Given the description of an element on the screen output the (x, y) to click on. 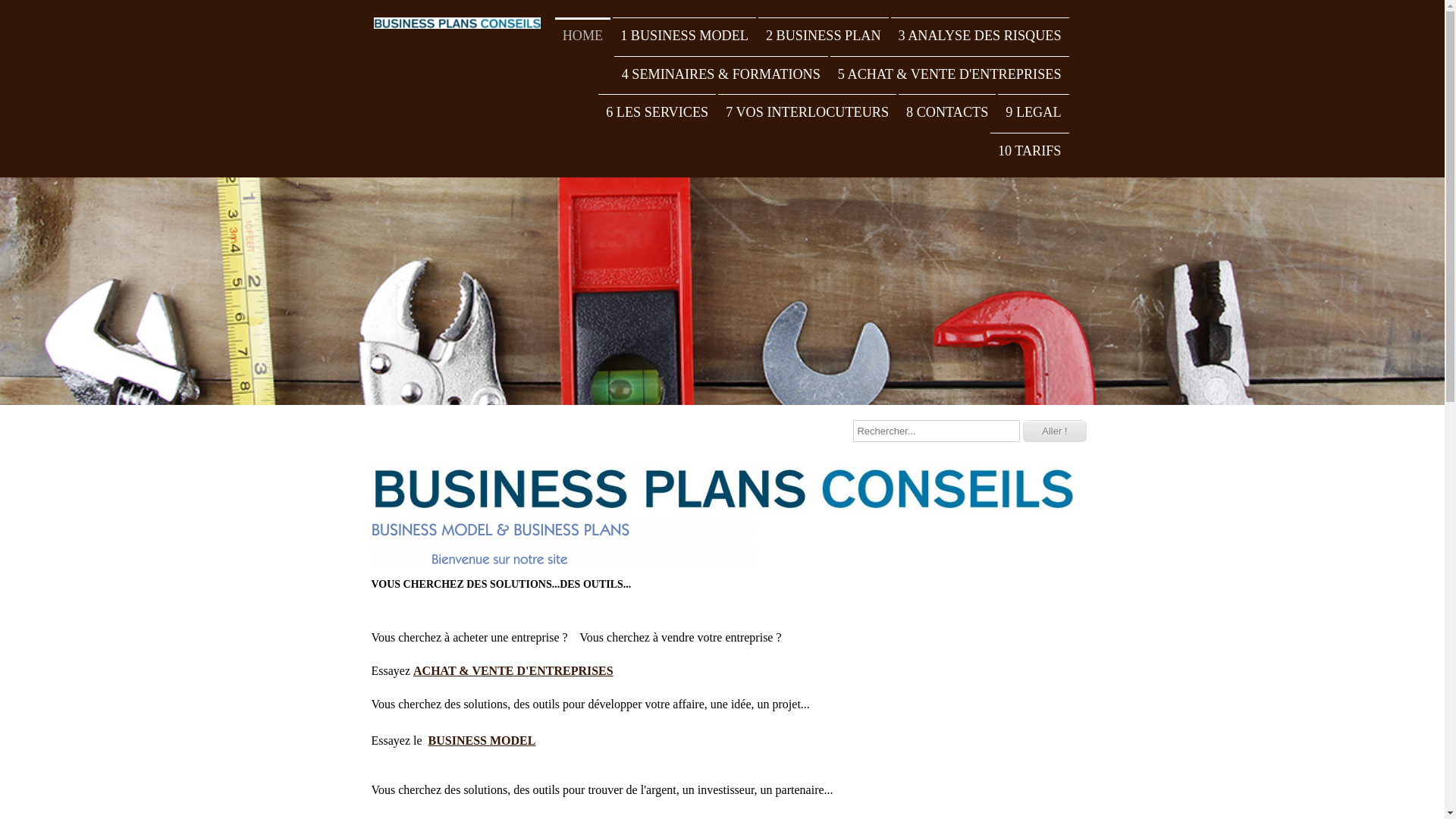
7 VOS INTERLOCUTEURS Element type: text (807, 111)
BUSINESS MODEL Element type: text (482, 740)
10 TARIFS Element type: text (1029, 150)
9 LEGAL Element type: text (1032, 111)
4 SEMINAIRES & FORMATIONS Element type: text (721, 73)
2 BUSINESS PLAN Element type: text (823, 35)
ACHAT & VENTE D'ENTREPRISES Element type: text (513, 670)
HOME Element type: text (583, 35)
6 LES SERVICES Element type: text (656, 111)
1 BUSINESS MODEL Element type: text (684, 35)
8 CONTACTS Element type: text (946, 111)
3 ANALYSE DES RISQUES Element type: text (980, 35)
5 ACHAT & VENTE D'ENTREPRISES Element type: text (949, 73)
